Given the description of an element on the screen output the (x, y) to click on. 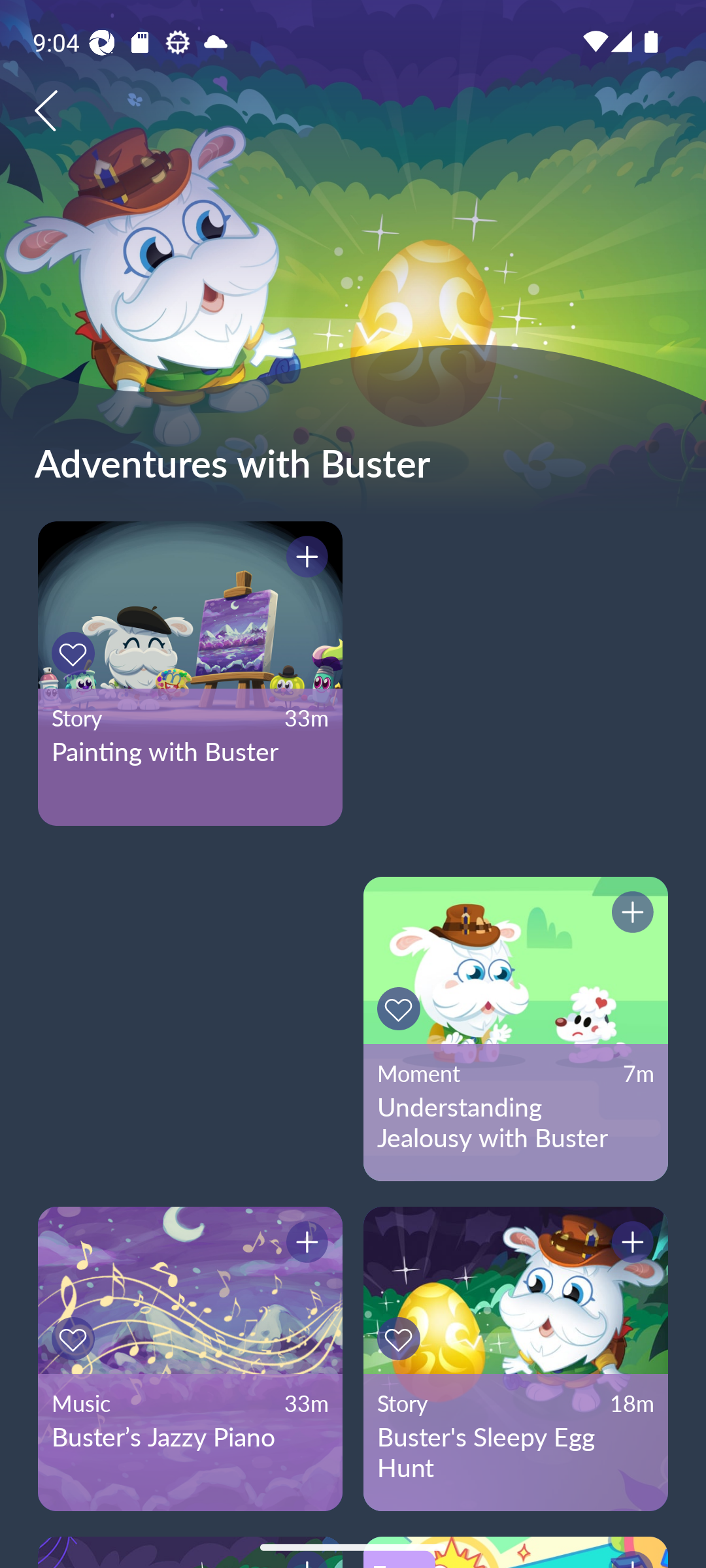
Button (304, 558)
Button (76, 652)
Button (629, 914)
Button (401, 1008)
Button (304, 1244)
Button (629, 1244)
Button (76, 1338)
Button (401, 1338)
